Given the description of an element on the screen output the (x, y) to click on. 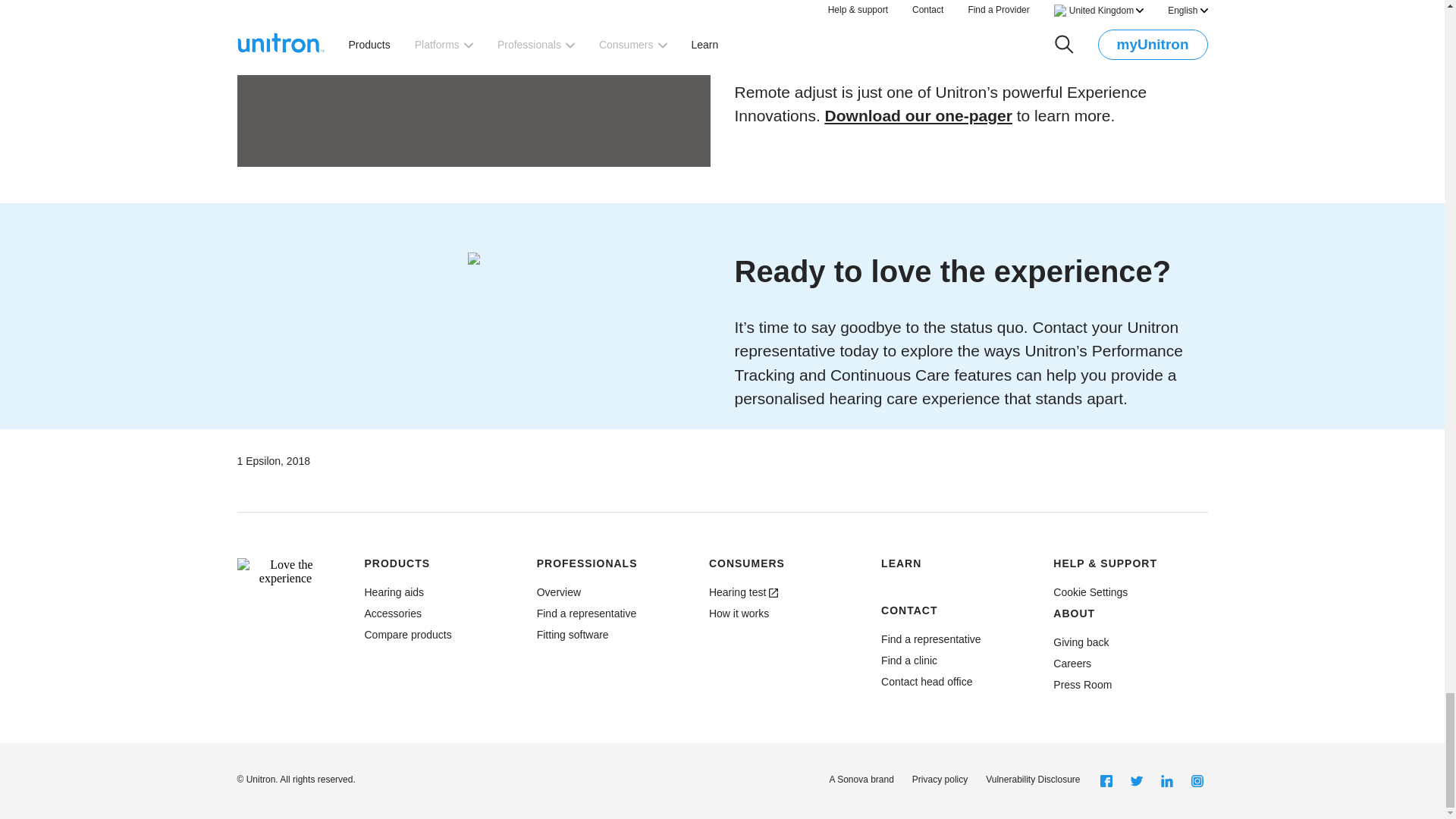
Fitting software (572, 633)
CONSUMERS (746, 562)
Find a representative (587, 612)
PROFESSIONALS (587, 562)
PRODUCTS (396, 562)
Download our one-pager (918, 115)
Compare products (407, 633)
Hearing aids (393, 591)
Overview (743, 591)
